Given the description of an element on the screen output the (x, y) to click on. 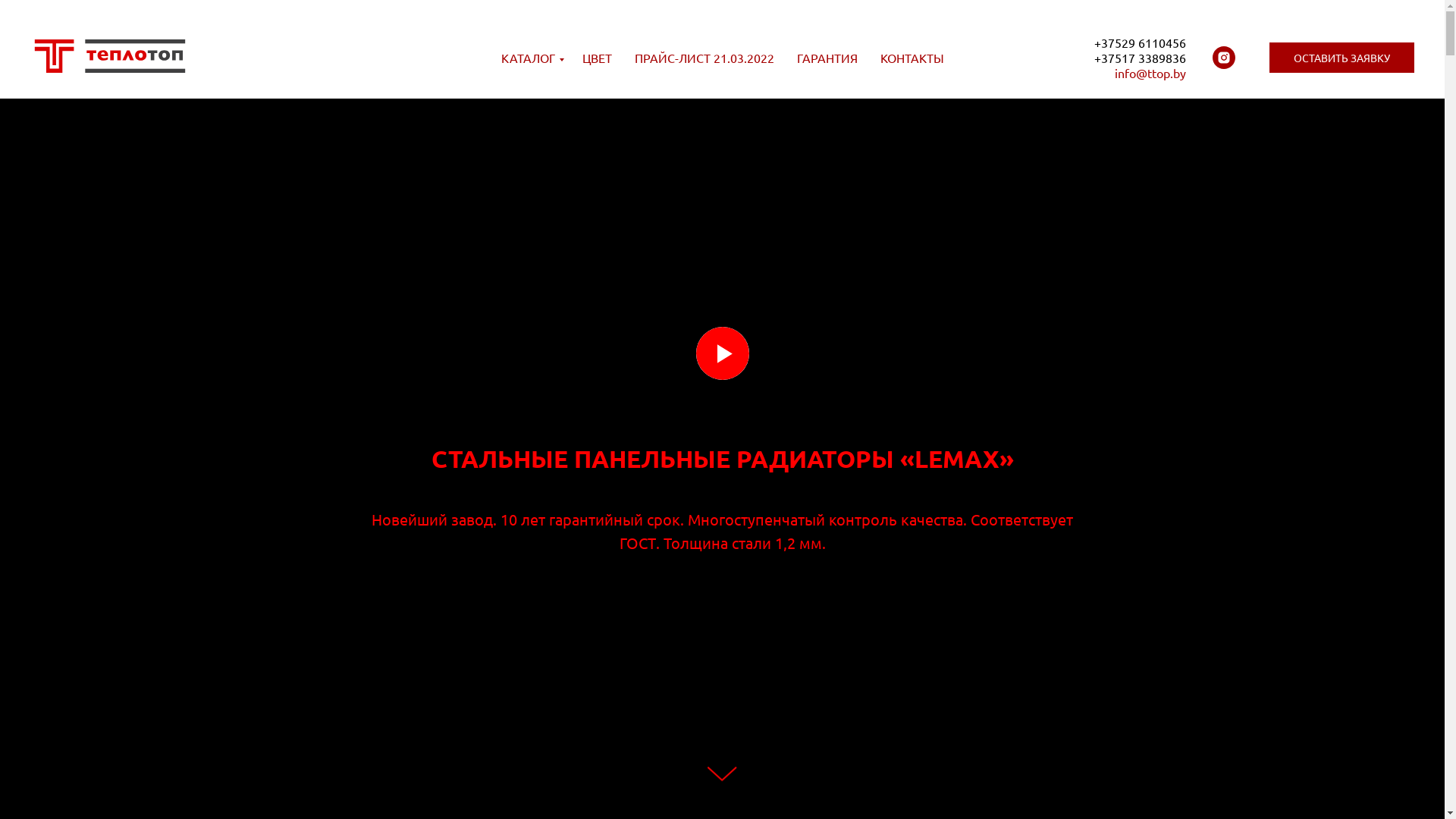
+37529 6110456 Element type: text (1140, 42)
+37517 3389836 Element type: text (1140, 57)
